Given the description of an element on the screen output the (x, y) to click on. 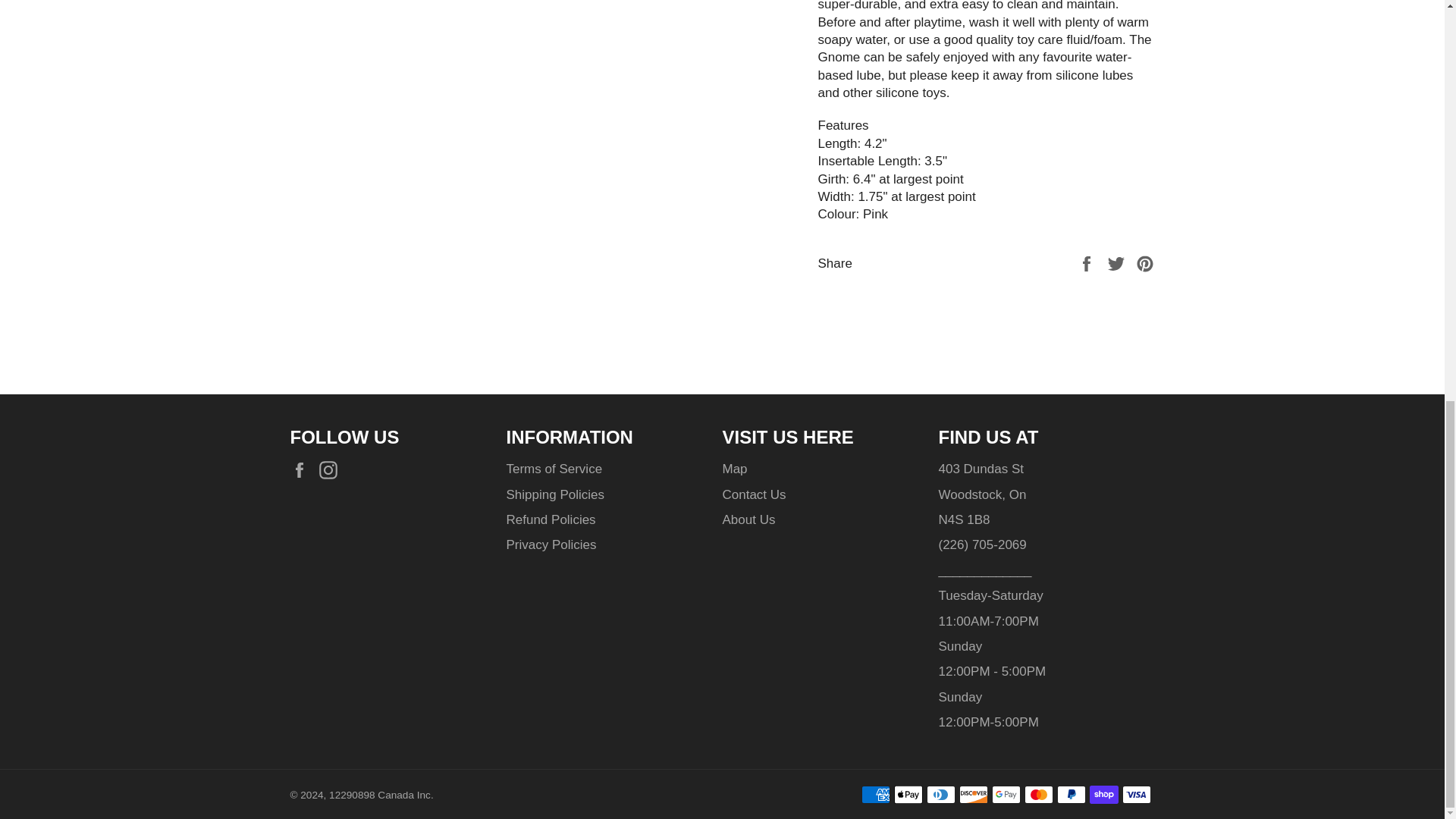
Contact Us (754, 494)
Terms of Service (554, 468)
Shipping Policy (555, 494)
About Us (748, 519)
Share on Facebook (1088, 263)
Privacy Policy (551, 544)
Tweet on Twitter (1117, 263)
Refund Policy (550, 519)
12290898 Canada Inc on Instagram (331, 469)
12290898 Canada Inc on Facebook (302, 469)
Pin on Pinterest (1144, 263)
